Given the description of an element on the screen output the (x, y) to click on. 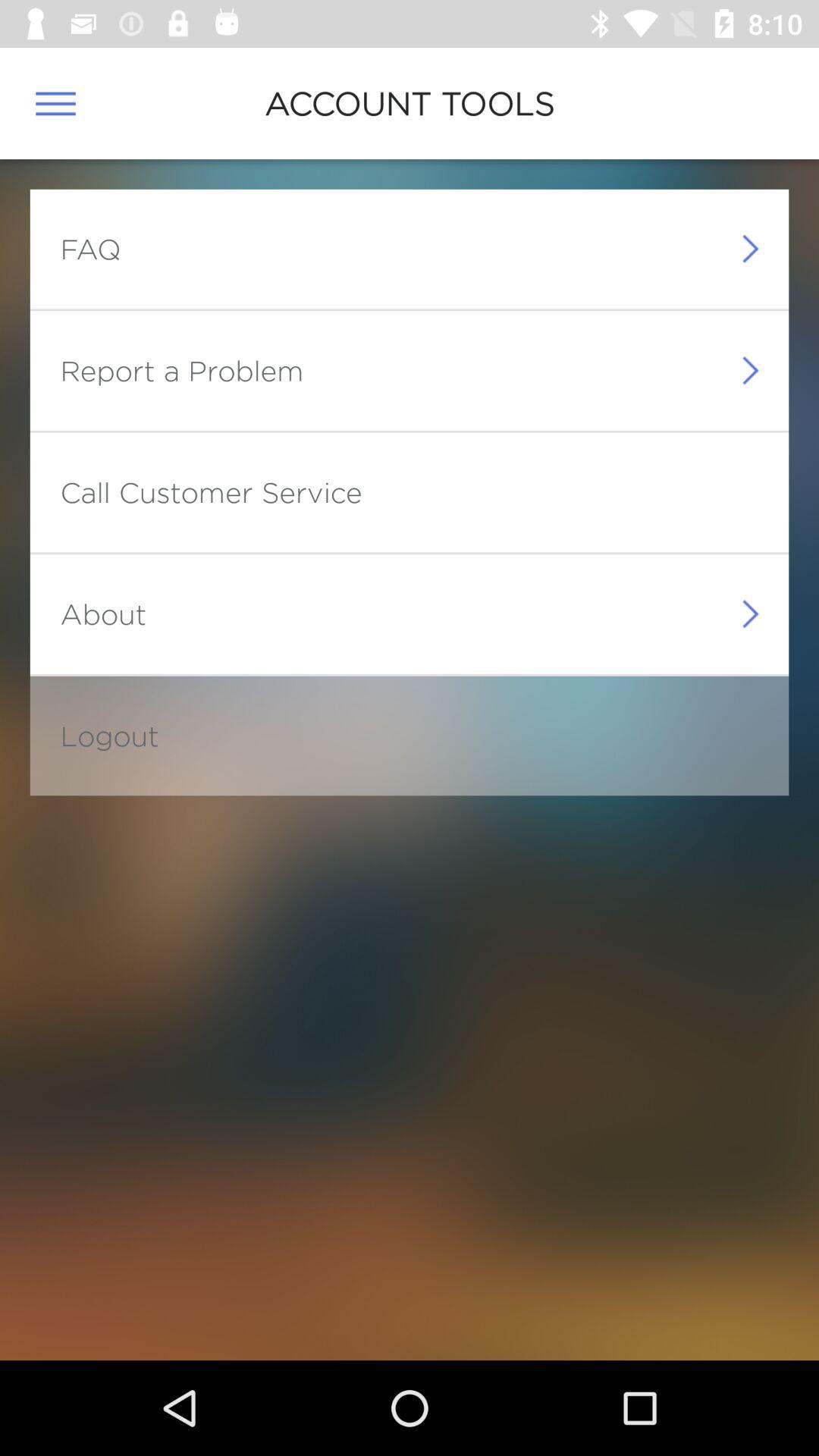
turn on item above the call customer service item (181, 370)
